Given the description of an element on the screen output the (x, y) to click on. 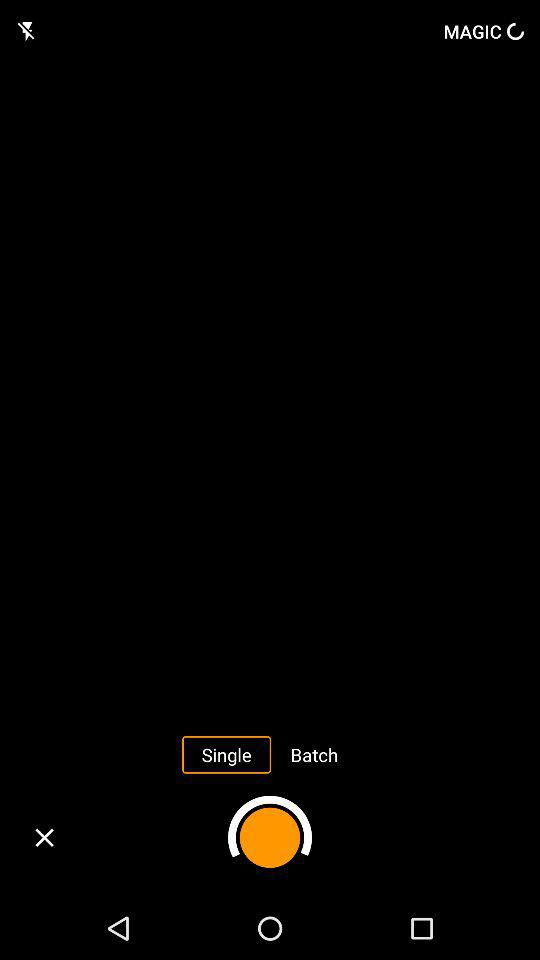
swipe until batch icon (314, 754)
